Given the description of an element on the screen output the (x, y) to click on. 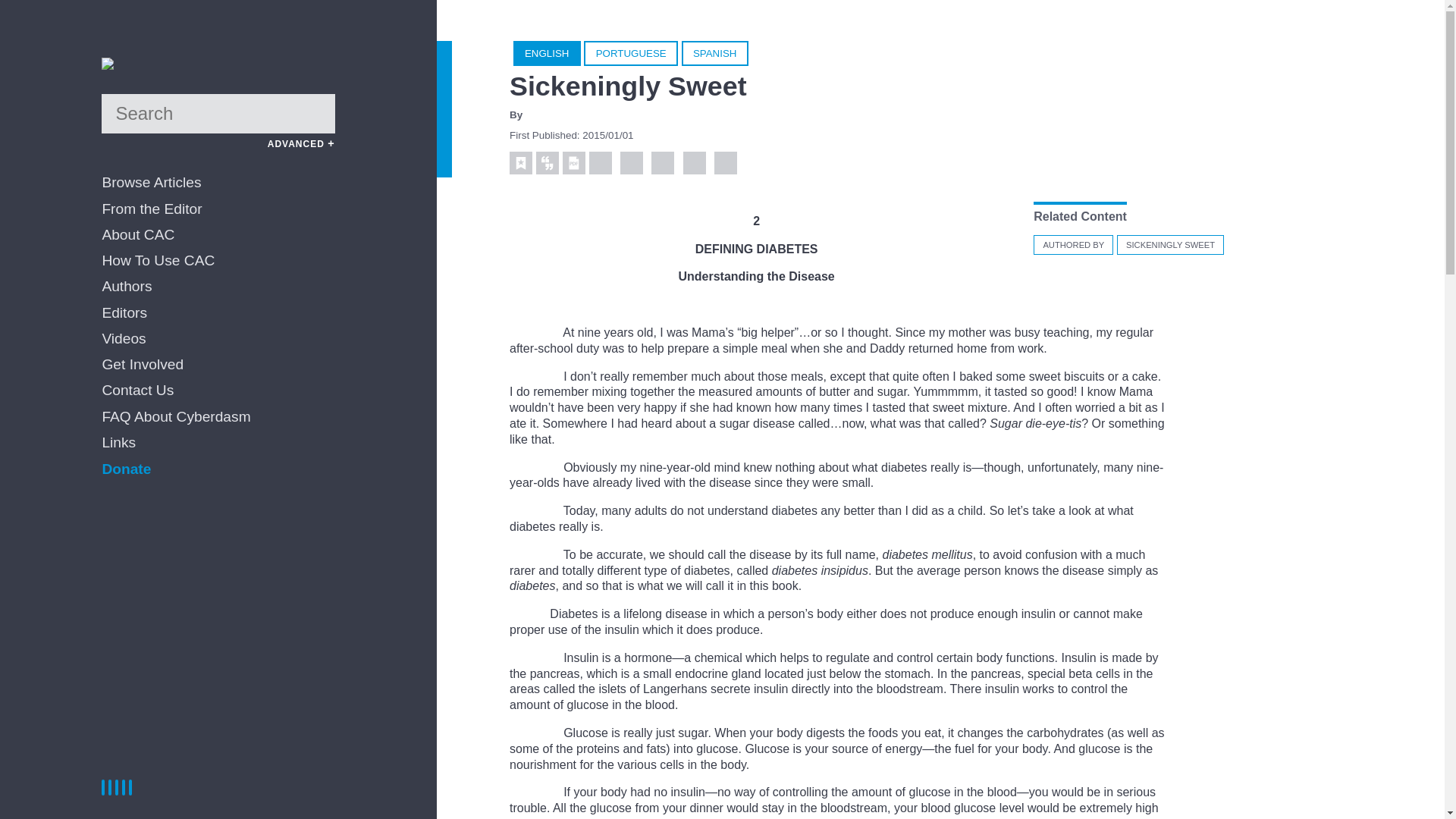
SPANISH (714, 53)
Authors (217, 286)
Links (217, 442)
Donate (126, 469)
Editors (217, 313)
ENGLISH (546, 53)
From the Editor (217, 209)
Browse Articles (217, 182)
Save (520, 162)
Videos (217, 339)
About CAC (217, 235)
SICKENINGLY SWEET (1170, 245)
AUTHORED BY (1073, 245)
Donate (126, 469)
Contact Us (217, 390)
